Given the description of an element on the screen output the (x, y) to click on. 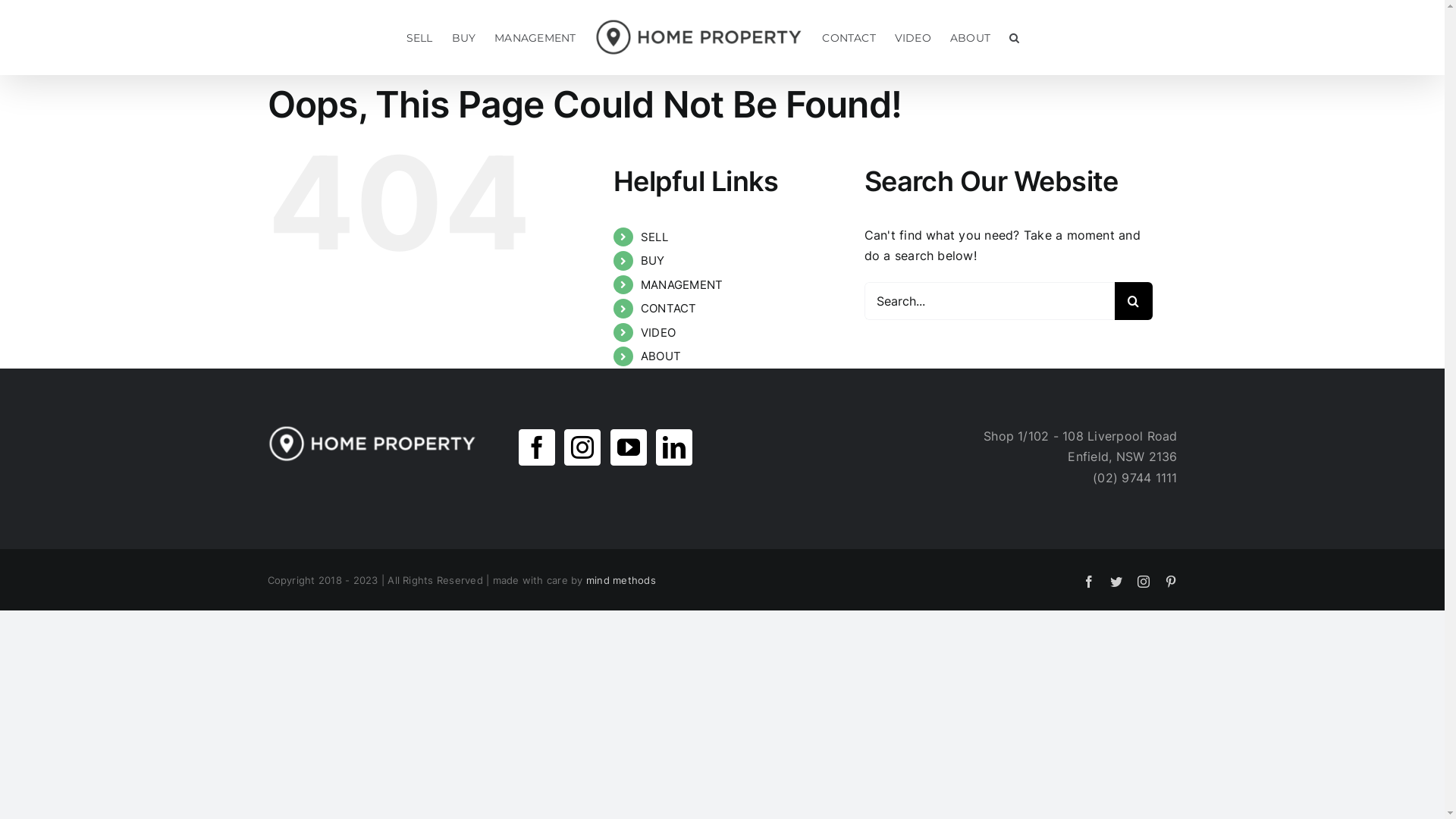
SELL Element type: text (654, 236)
CONTACT Element type: text (848, 37)
ABOUT Element type: text (660, 355)
BUY Element type: text (463, 37)
Facebook Element type: text (1088, 581)
SELL Element type: text (419, 37)
MANAGEMENT Element type: text (534, 37)
Search Element type: hover (1014, 37)
VIDEO Element type: text (912, 37)
ABOUT Element type: text (970, 37)
BUY Element type: text (652, 260)
MANAGEMENT Element type: text (681, 284)
Twitter Element type: text (1116, 581)
Pinterest Element type: text (1170, 581)
VIDEO Element type: text (657, 332)
CONTACT Element type: text (668, 308)
Instagram Element type: text (1143, 581)
mind methods Element type: text (620, 580)
